Given the description of an element on the screen output the (x, y) to click on. 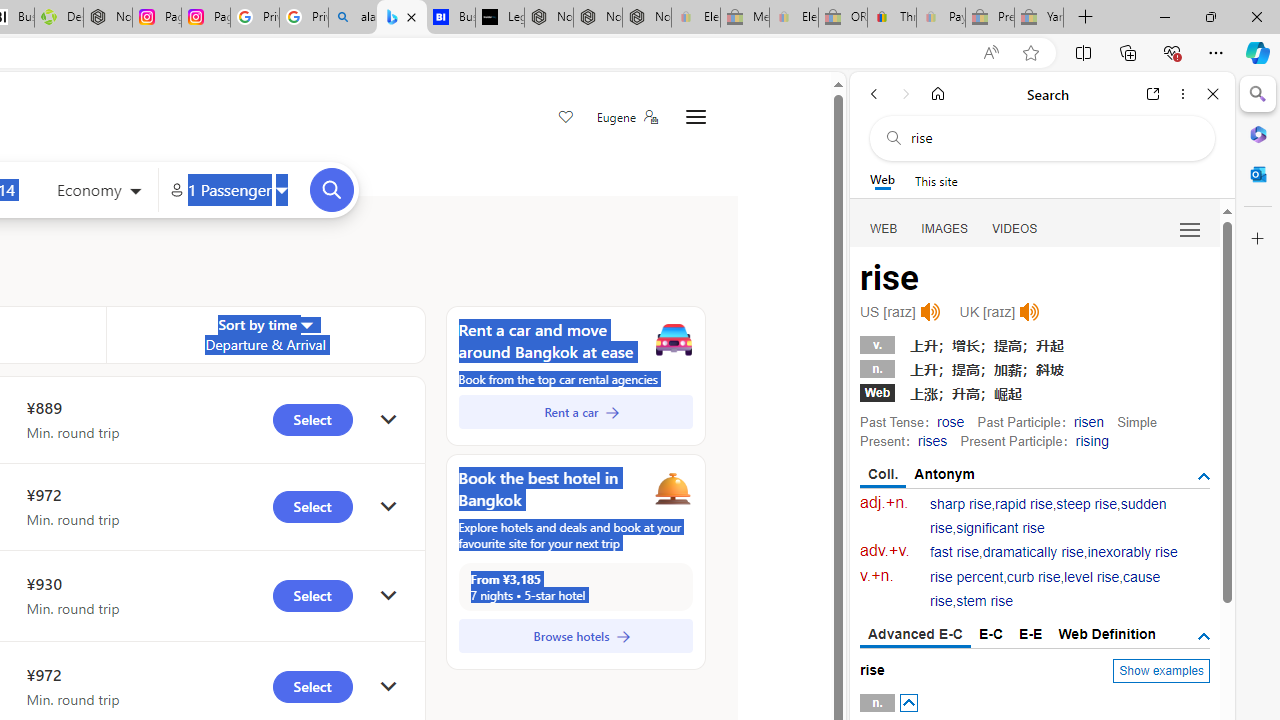
Eugene (626, 117)
Advanced E-C (915, 635)
significant rise (1000, 528)
AutomationID: tgdef (1203, 636)
curb rise (1033, 577)
